Given the description of an element on the screen output the (x, y) to click on. 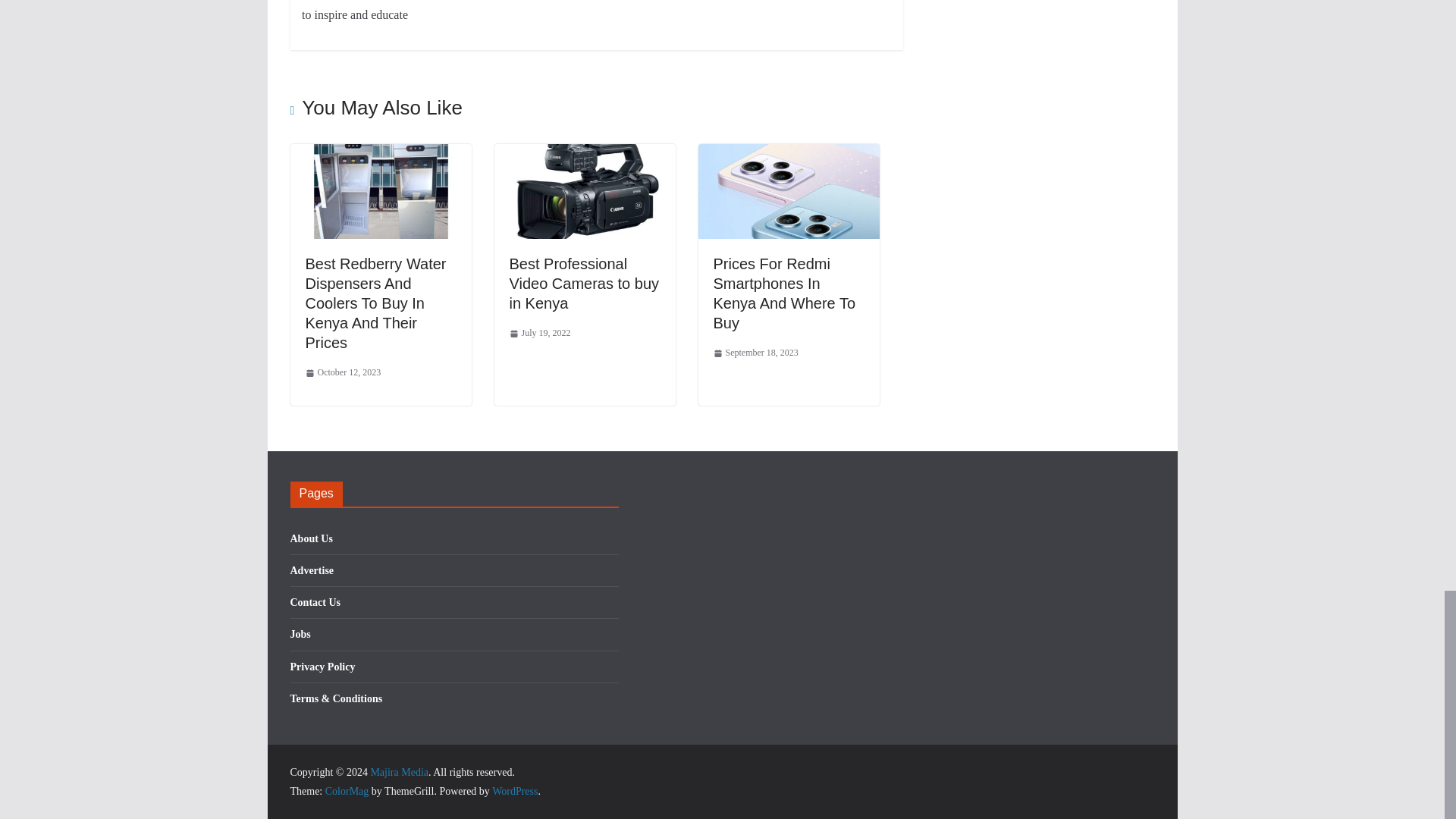
July 19, 2022 (539, 333)
3:59 pm (342, 372)
Prices For Redmi Smartphones In Kenya And Where To Buy (784, 293)
Best Professional Video Cameras to buy in Kenya (584, 283)
October 12, 2023 (342, 372)
September 18, 2023 (755, 352)
